Given the description of an element on the screen output the (x, y) to click on. 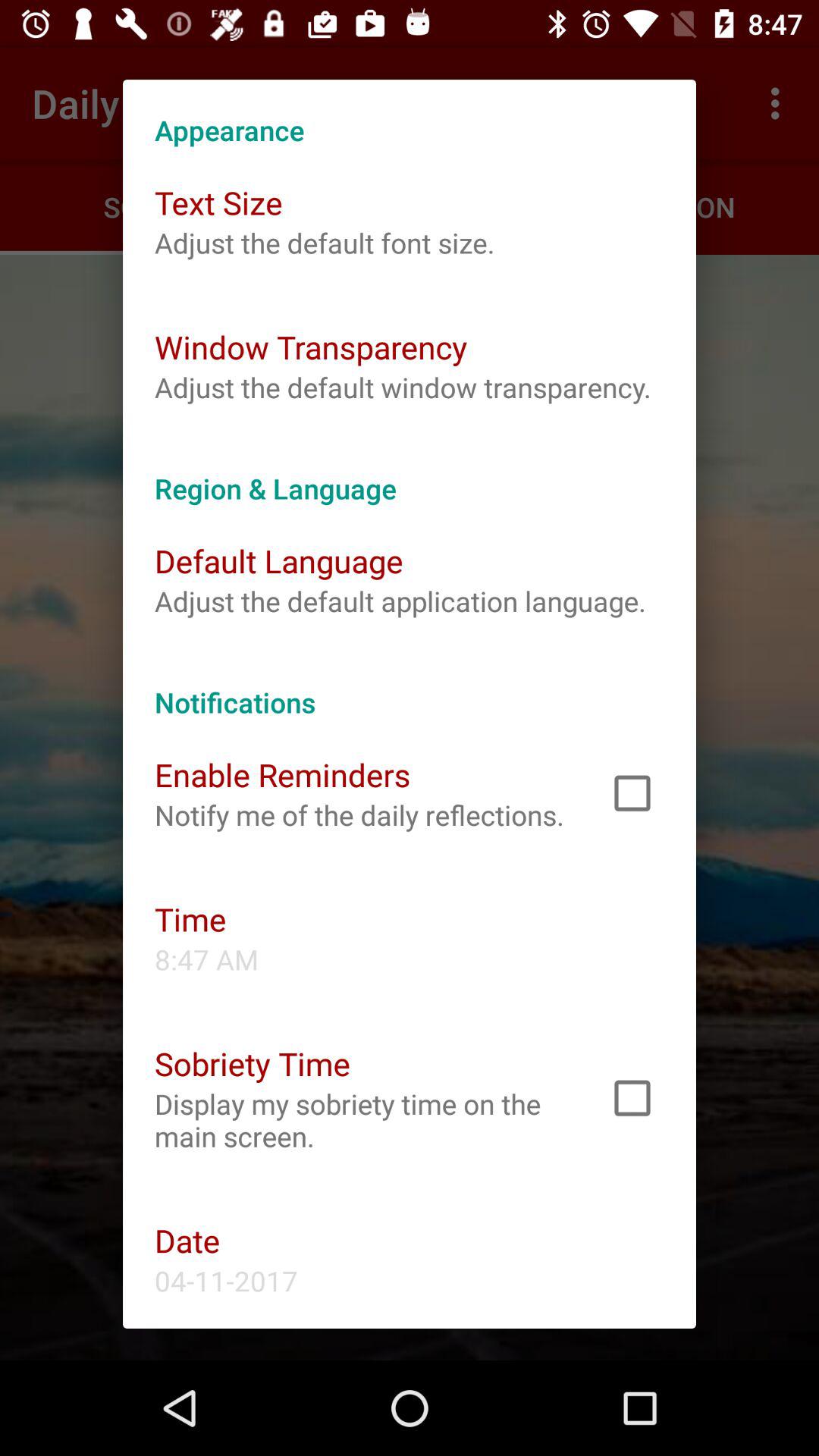
press the app below the date icon (226, 1280)
